Given the description of an element on the screen output the (x, y) to click on. 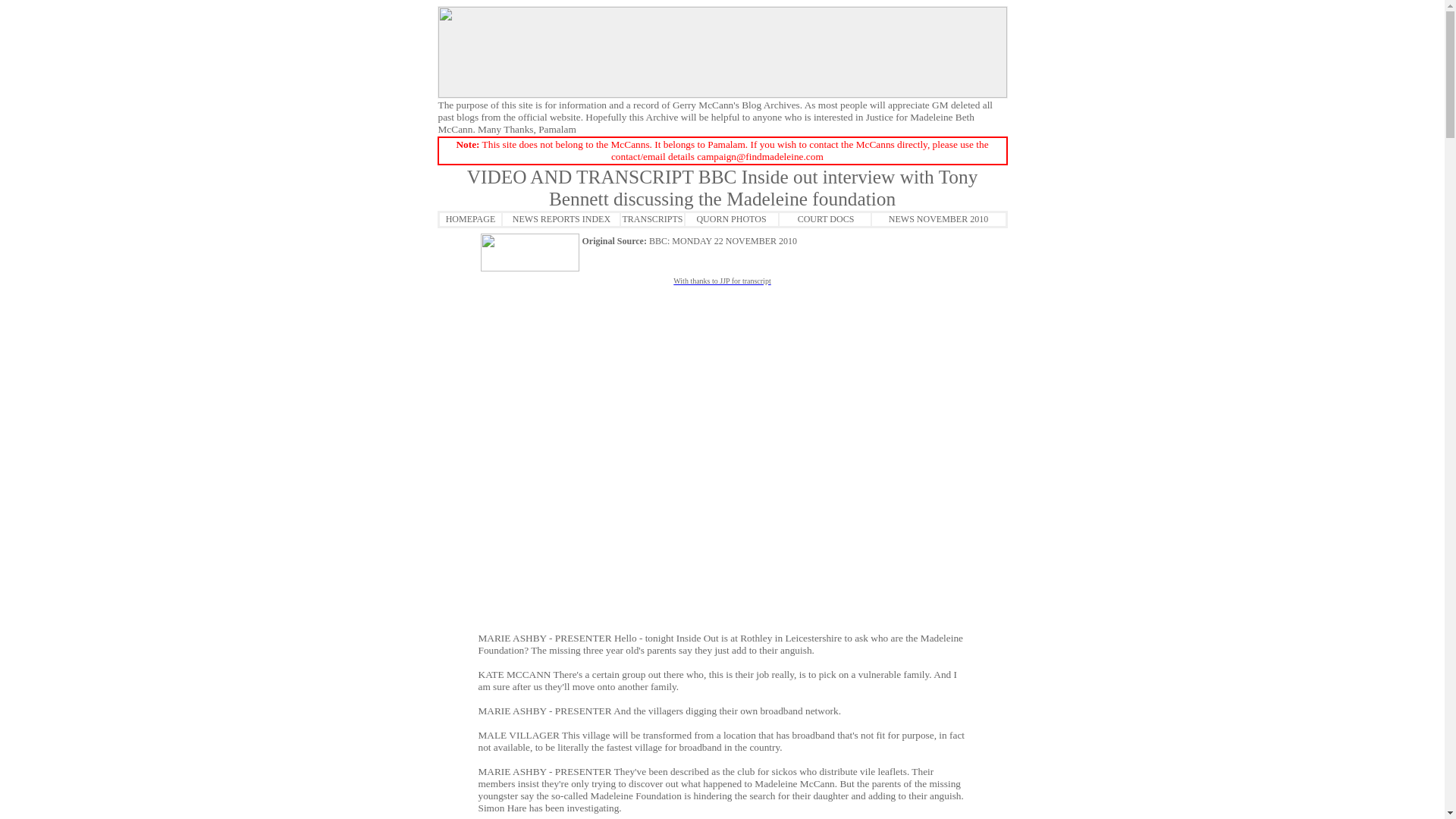
QUORN PHOTOS (730, 217)
TRANSCRIPTS (651, 217)
 COURT DOCS (824, 217)
NEWS REPORTS INDEX (561, 217)
HOMEPAGE (470, 217)
NEWS NOVEMBER 2010 (938, 217)
With thanks to JJP for transcript (721, 278)
